Given the description of an element on the screen output the (x, y) to click on. 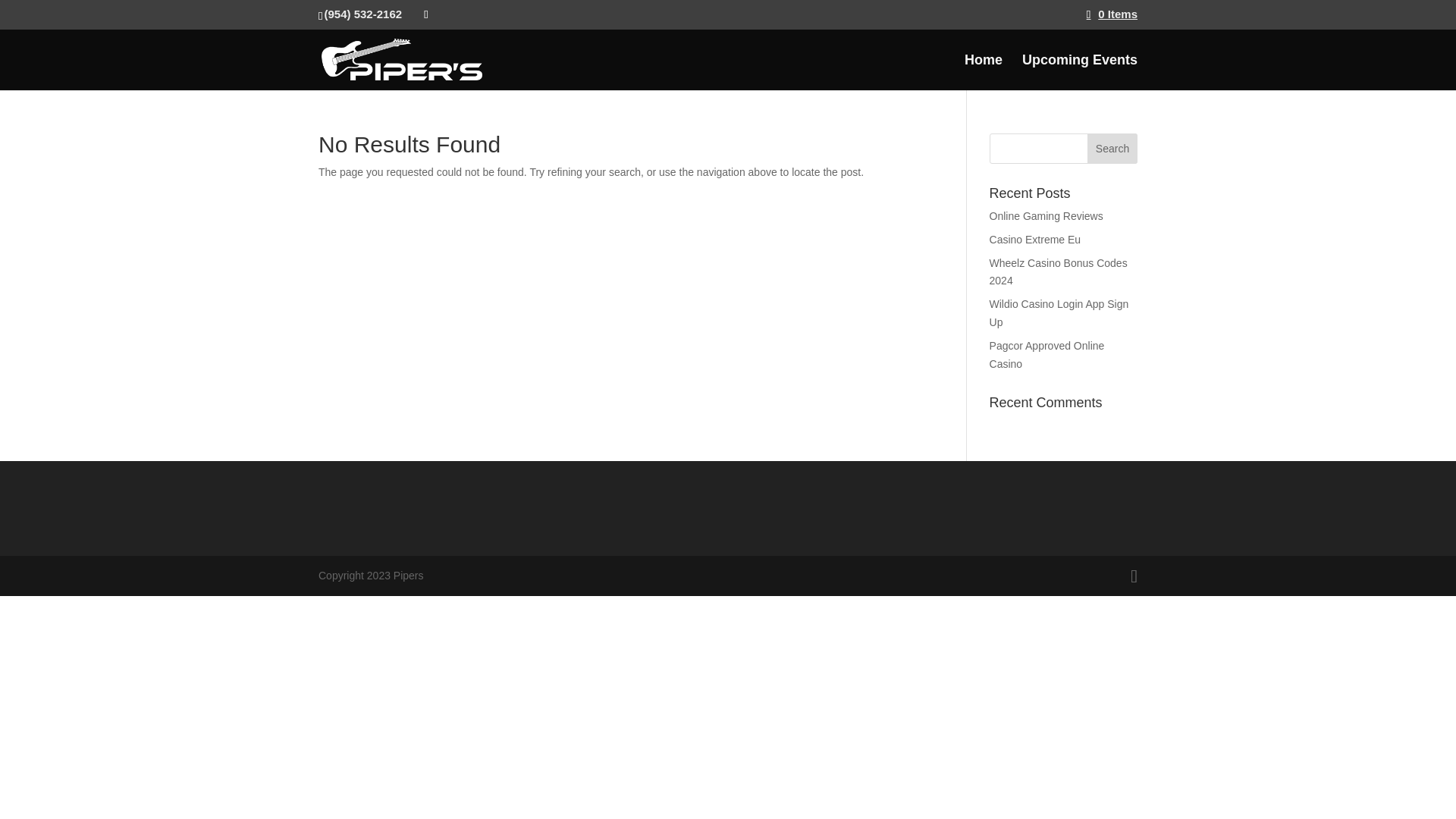
Online Gaming Reviews (1046, 215)
Wildio Casino Login App Sign Up (1059, 313)
Search (1112, 148)
Casino Extreme Eu (1035, 239)
Home (983, 72)
Pagcor Approved Online Casino (1047, 354)
Search (1112, 148)
Upcoming Events (1079, 72)
Wheelz Casino Bonus Codes 2024 (1058, 272)
0 Items (1111, 13)
